Given the description of an element on the screen output the (x, y) to click on. 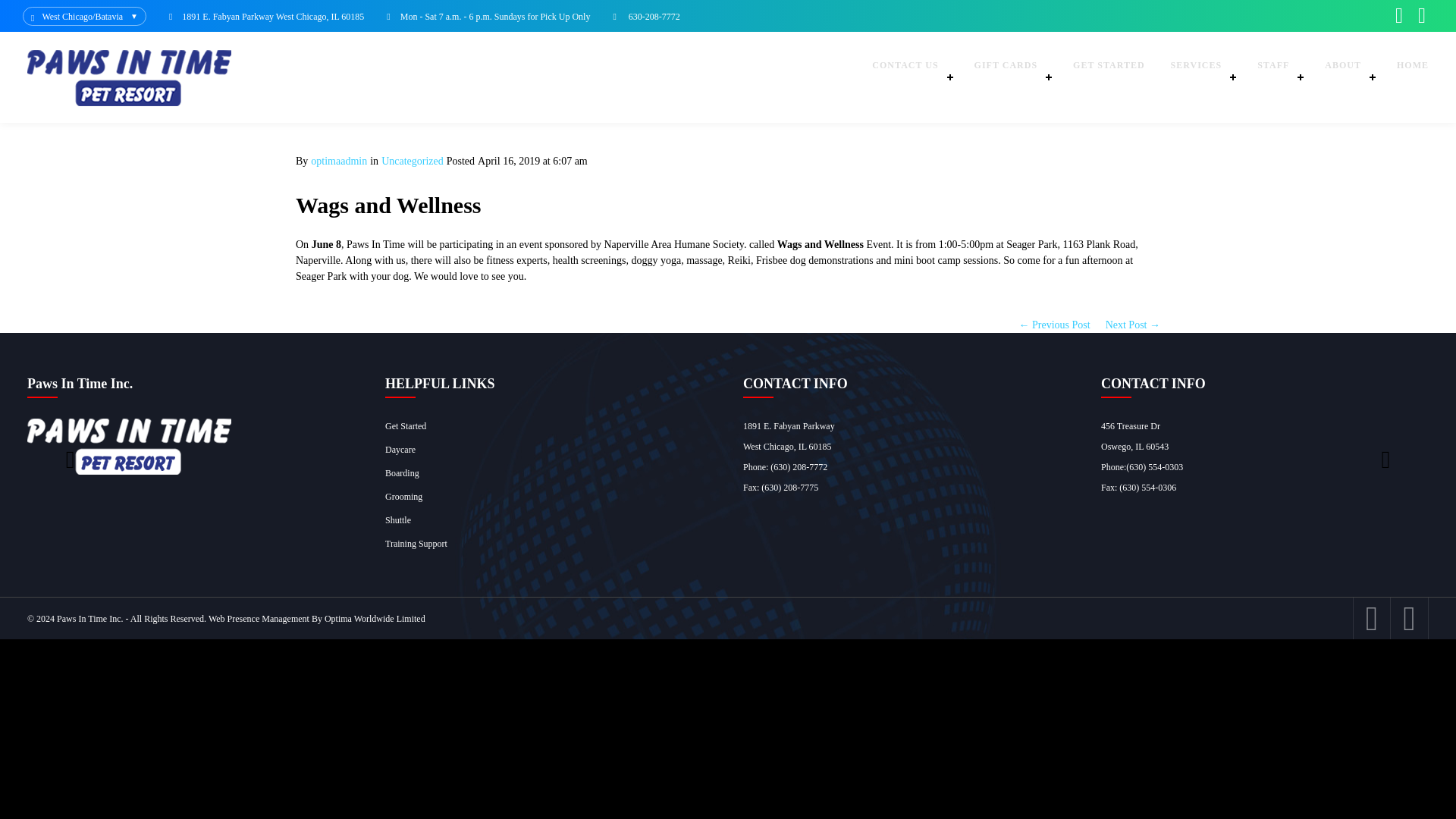
SERVICES (1200, 77)
GIFT CARDS (1009, 77)
STAFF (1277, 77)
Uncategorized (412, 161)
HOME (1412, 77)
Wags and Wellness (388, 205)
GET STARTED (1108, 77)
optimaadmin (338, 161)
ABOUT (1347, 77)
Wags and Wellness (388, 205)
